Given the description of an element on the screen output the (x, y) to click on. 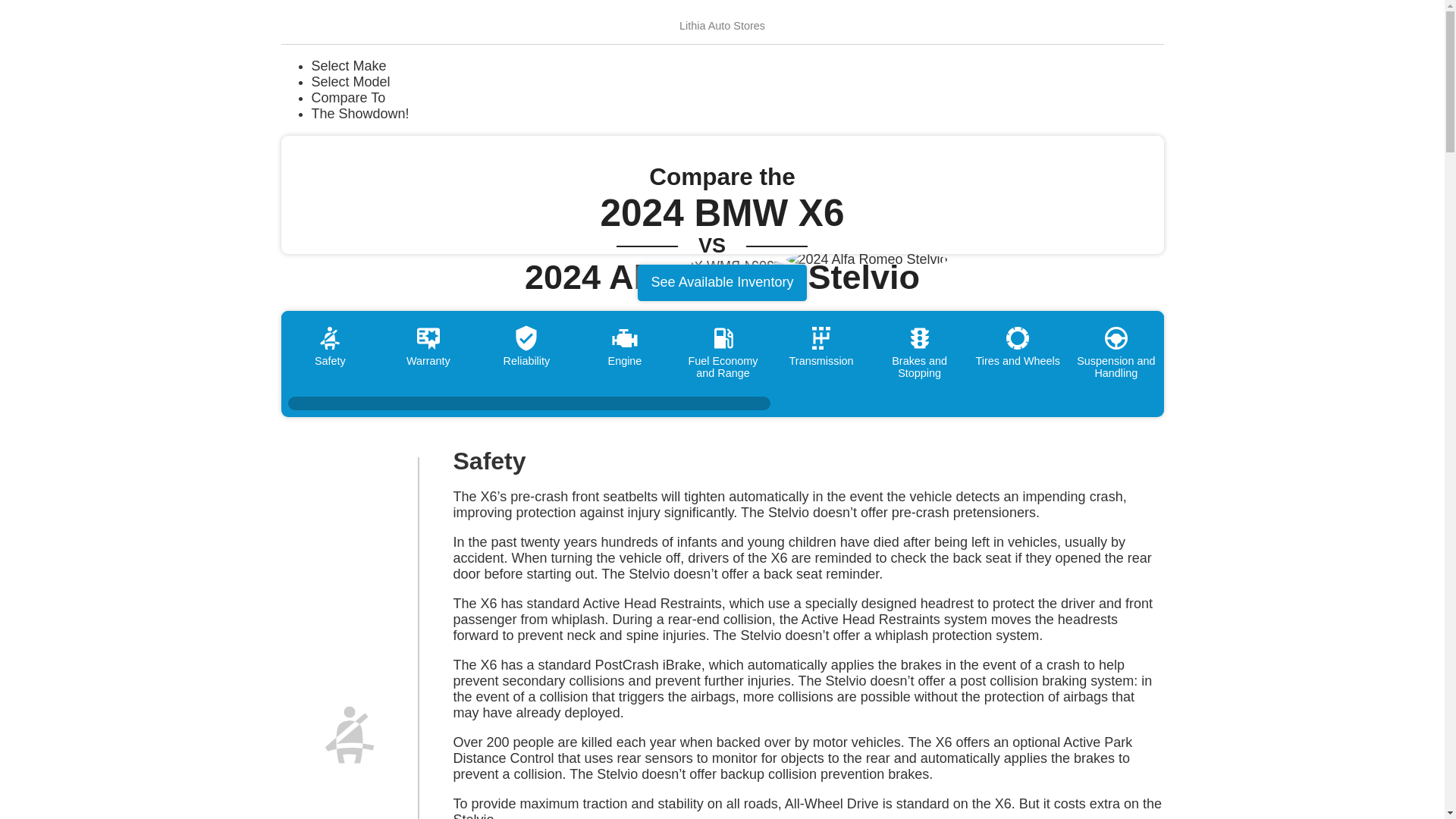
Compare To (737, 98)
Chassis (1213, 345)
Warranty (427, 345)
See Available Inventory (721, 281)
Brakes and Stopping (919, 351)
Transmission (820, 345)
Select Model (737, 82)
Safety (330, 345)
Tires and Wheels (1017, 345)
Suspension and Handling (1114, 351)
Engine (624, 345)
Reliability (526, 345)
Fuel Economy and Range (723, 351)
Select Make (737, 66)
Passenger Space (1311, 345)
